Given the description of an element on the screen output the (x, y) to click on. 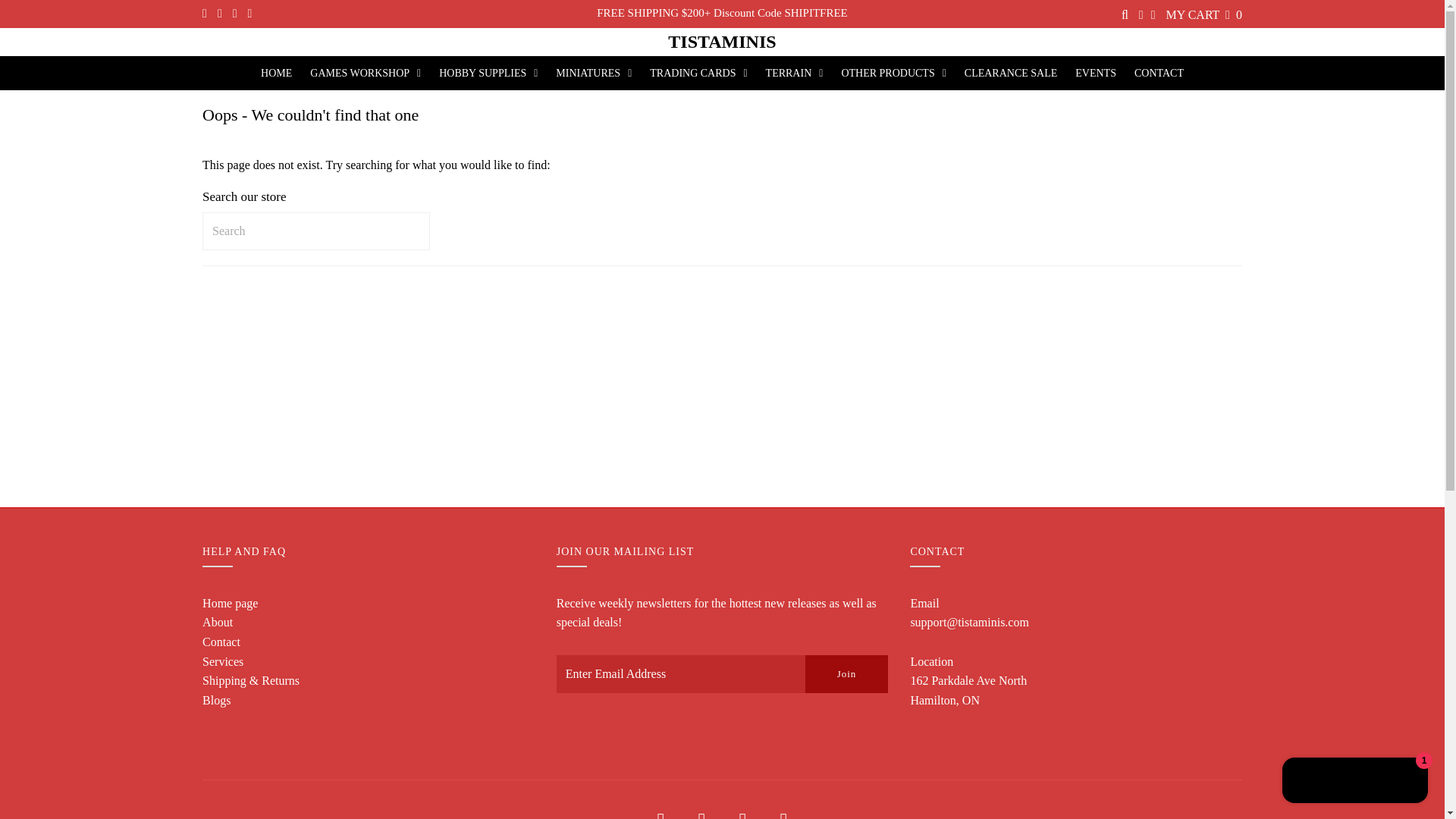
GAMES WORKSHOP (365, 73)
HOME (276, 73)
MY CART    0 (1203, 14)
Join (846, 673)
Shopify online store chat (1355, 781)
TISTAMINIS (722, 41)
